Given the description of an element on the screen output the (x, y) to click on. 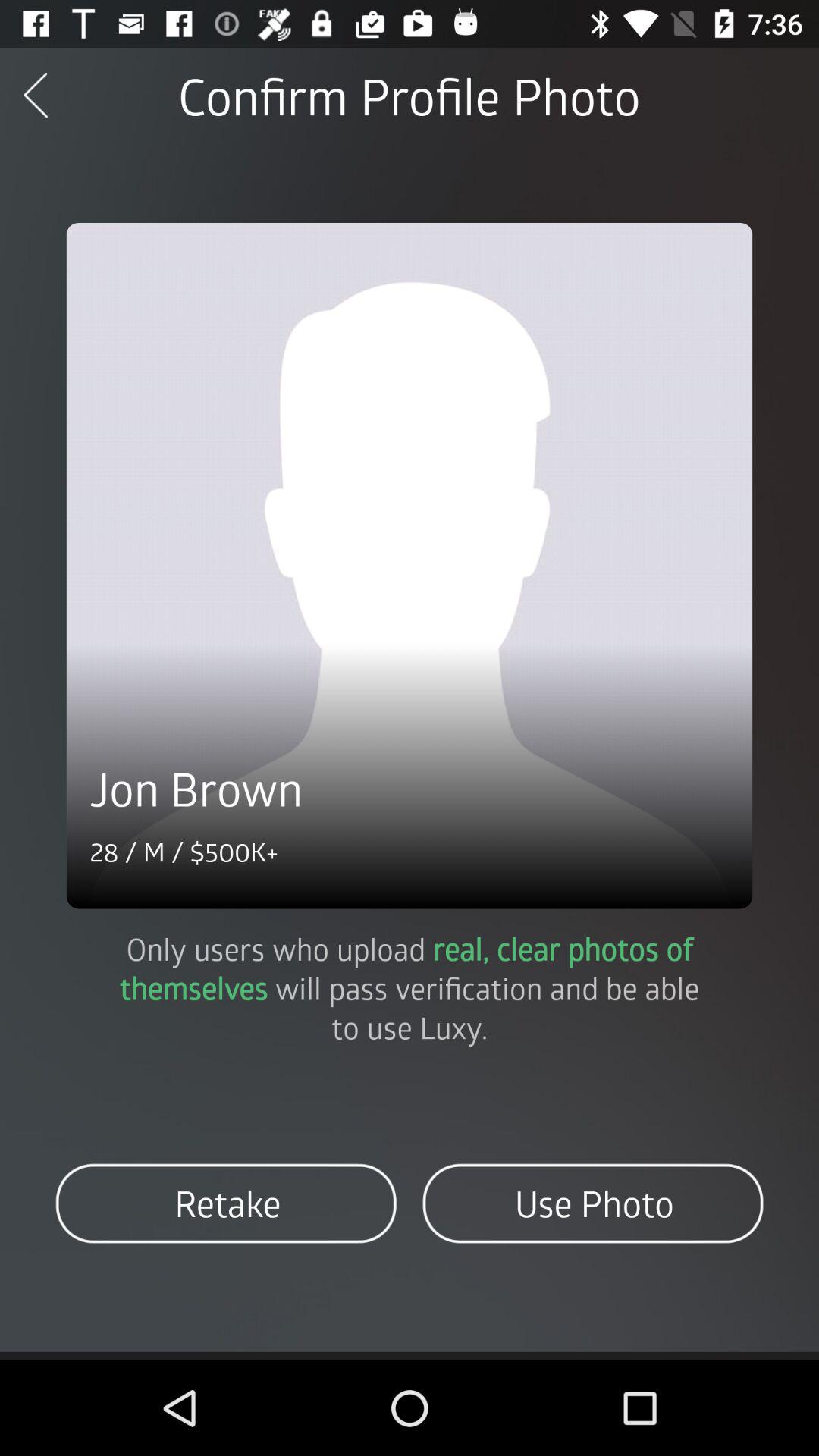
press retake item (225, 1203)
